Given the description of an element on the screen output the (x, y) to click on. 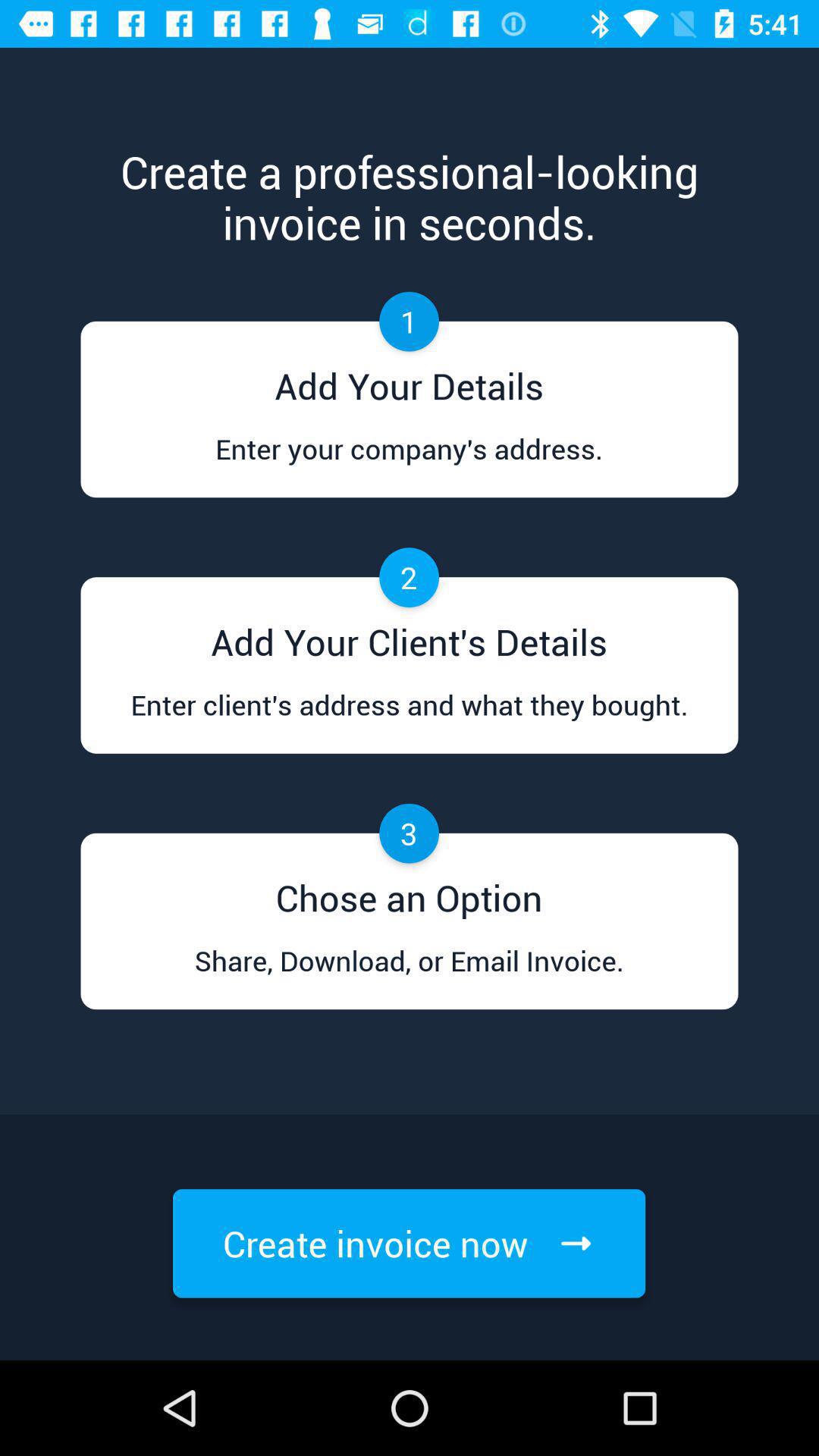
scroll until share download or (408, 975)
